Given the description of an element on the screen output the (x, y) to click on. 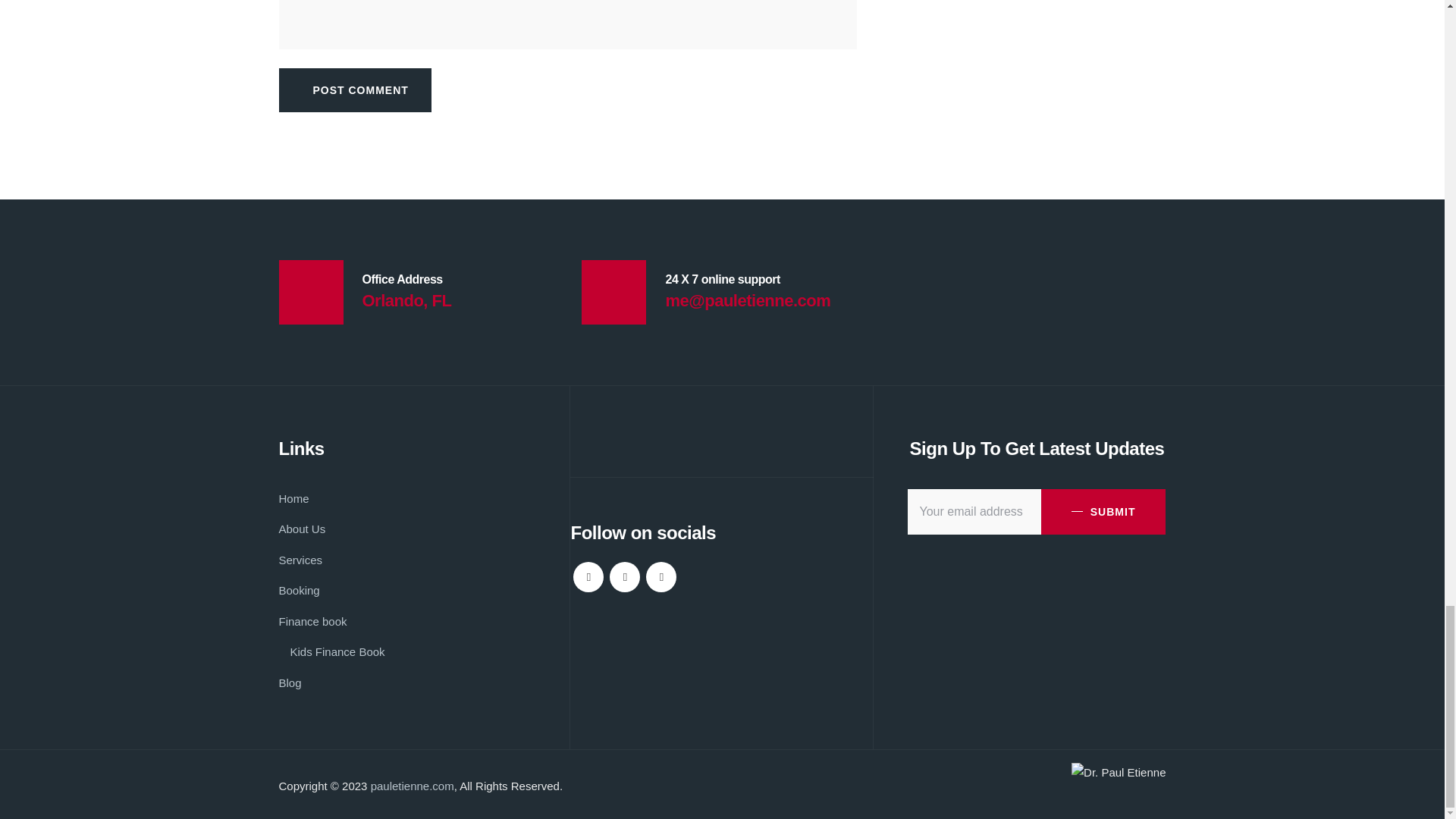
Dr. Paul Etienne (1118, 772)
Post Comment (354, 89)
Post Comment (354, 89)
